Given the description of an element on the screen output the (x, y) to click on. 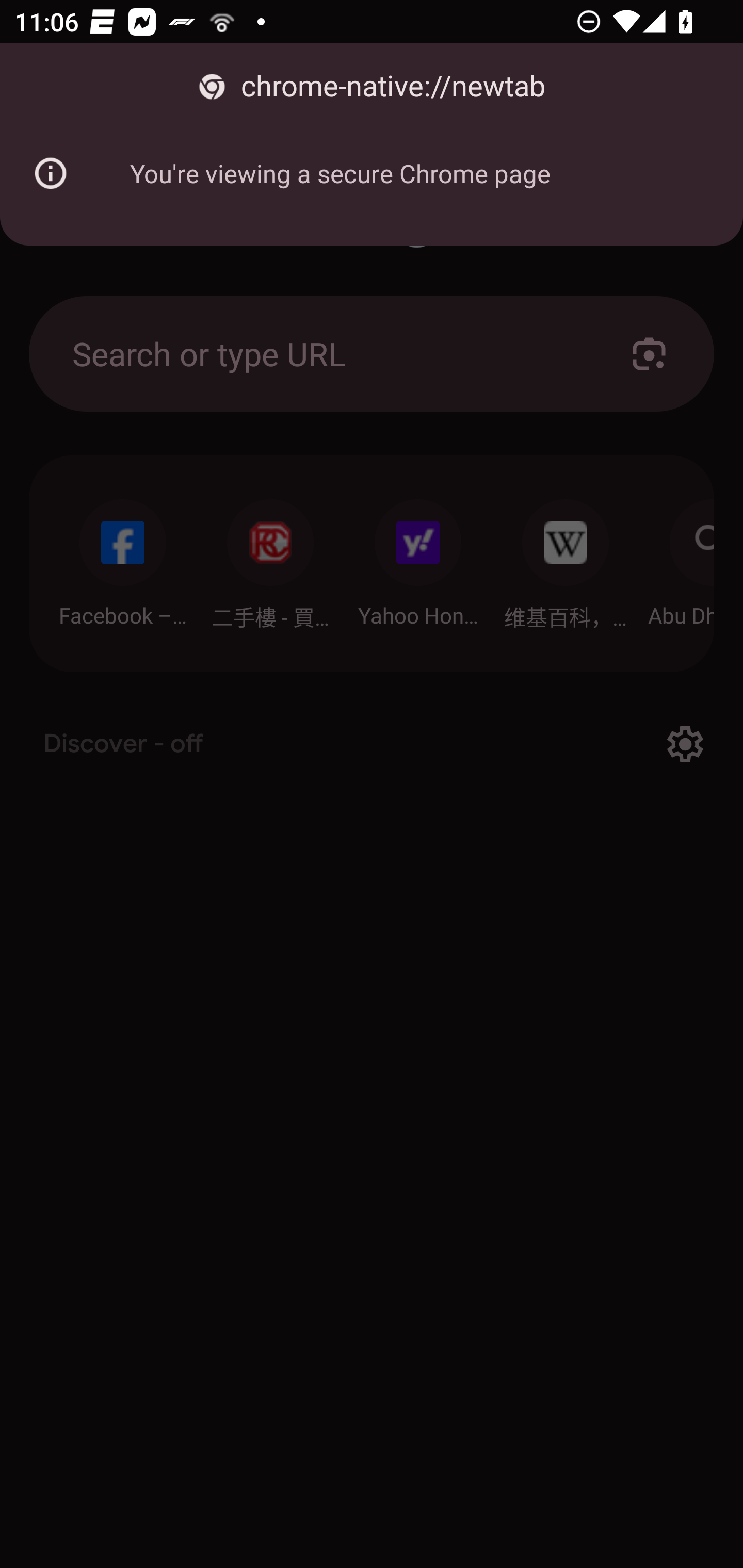
chrome-native://newtab (371, 86)
